Given the description of an element on the screen output the (x, y) to click on. 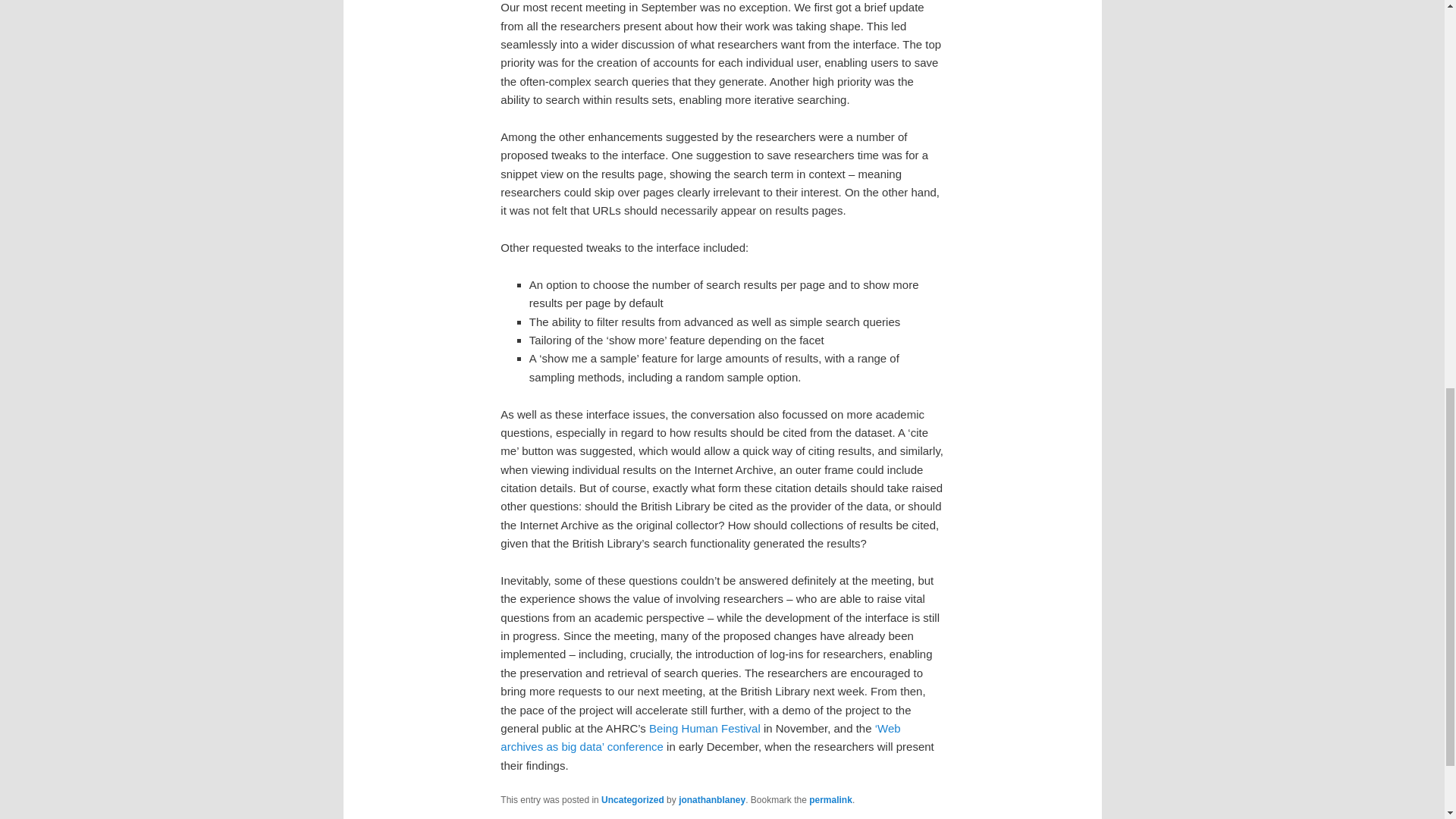
jonathanblaney (711, 799)
permalink (830, 799)
Uncategorized (632, 799)
Being Human Festival (704, 727)
